Given the description of an element on the screen output the (x, y) to click on. 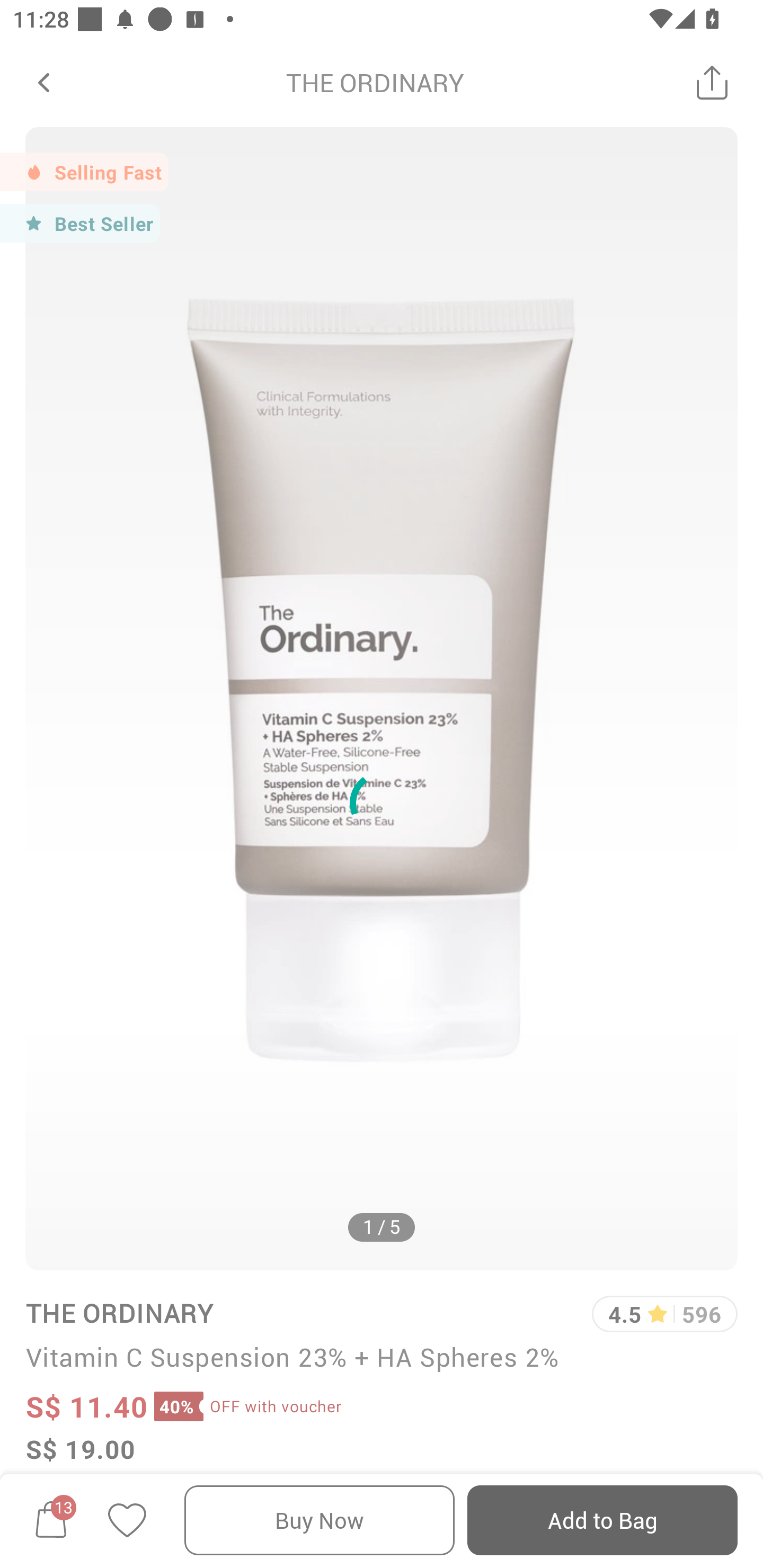
THE ORDINARY (375, 82)
Share this Product (711, 82)
THE ORDINARY (119, 1312)
4.5 596 (664, 1313)
Buy Now (319, 1519)
Add to Bag (601, 1519)
13 (50, 1520)
